Given the description of an element on the screen output the (x, y) to click on. 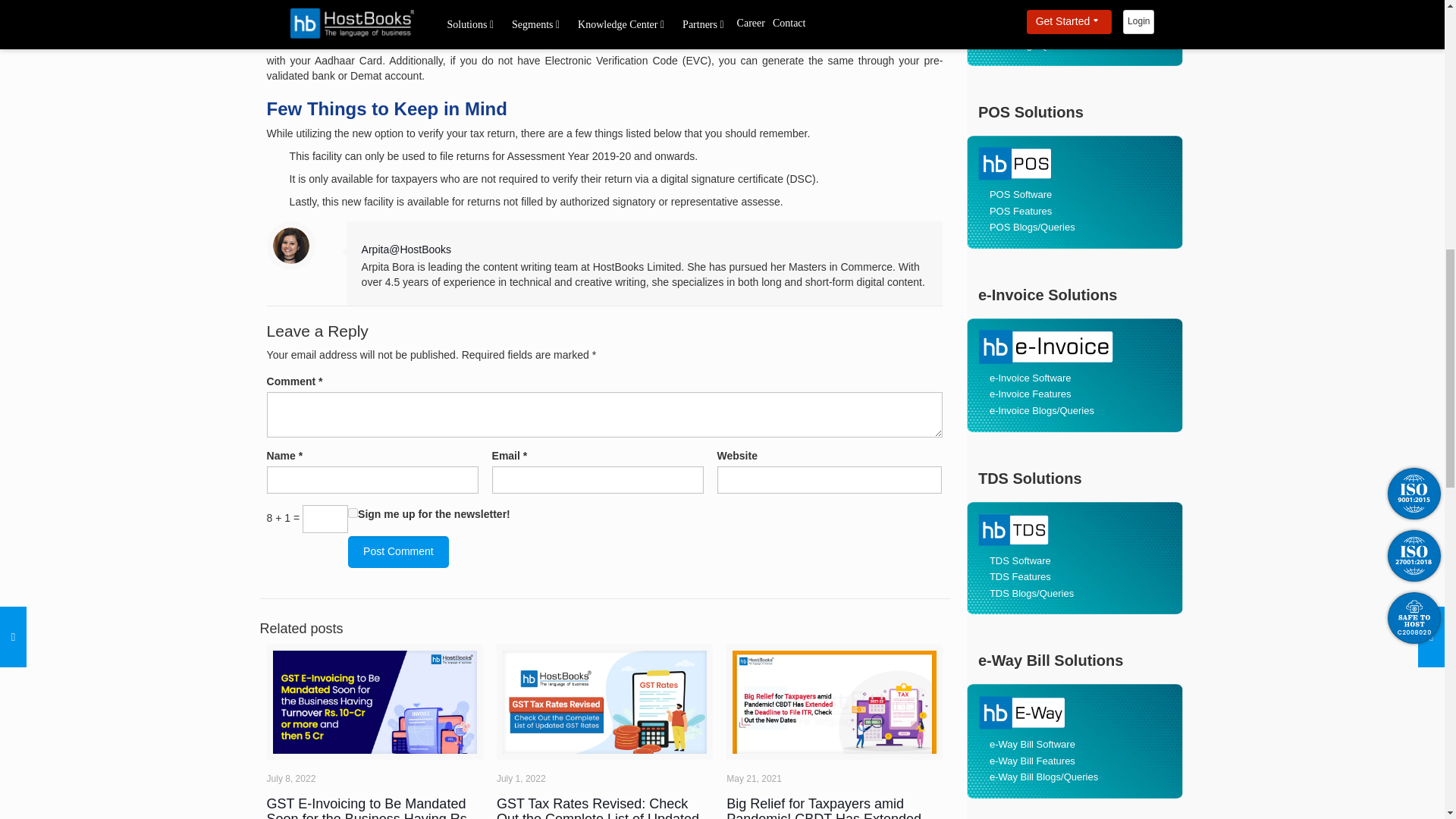
Post Comment (397, 552)
1 (352, 512)
